Given the description of an element on the screen output the (x, y) to click on. 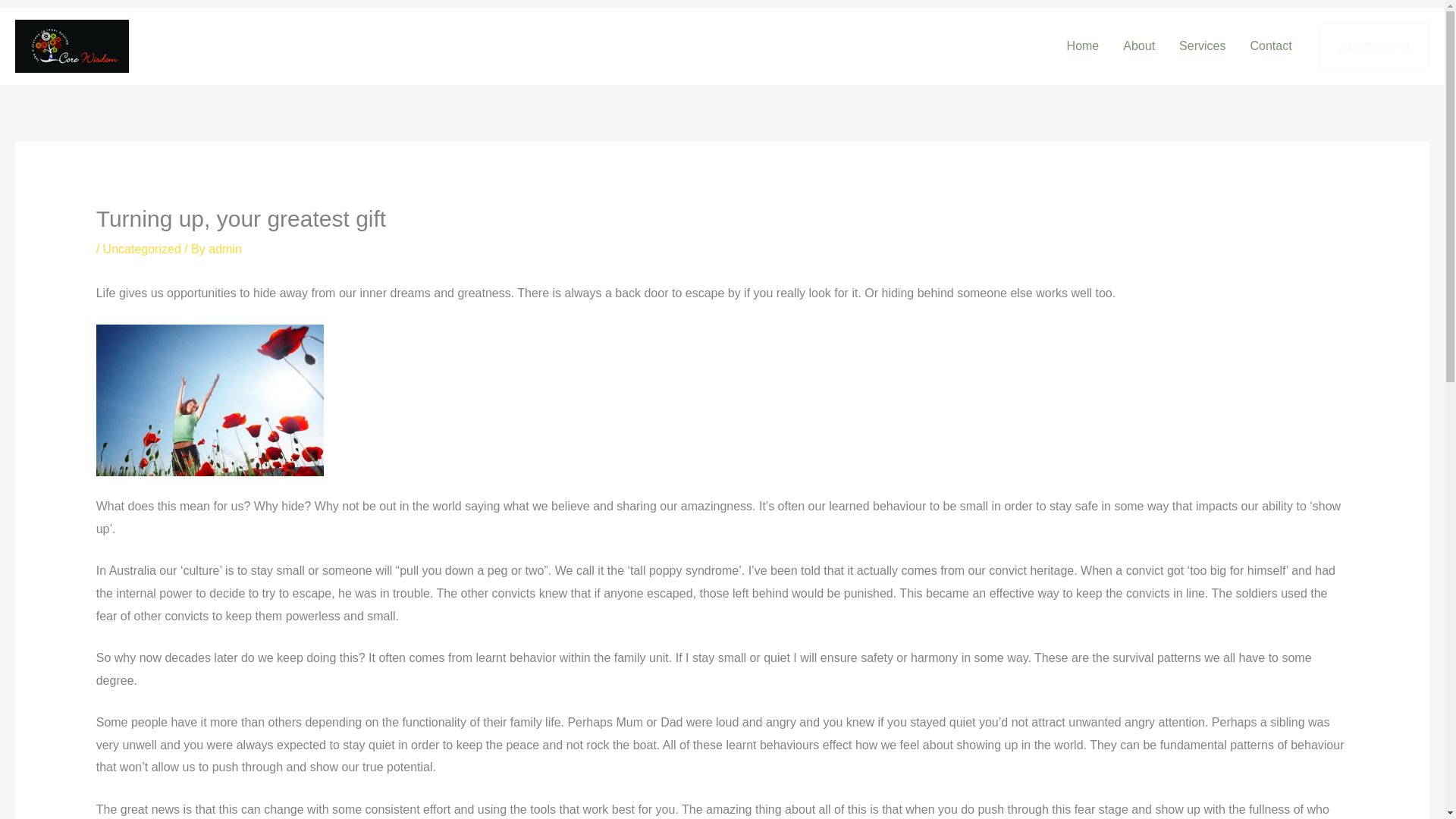
About (1138, 45)
Contact (1270, 45)
Services (1202, 45)
admin (224, 248)
Uncategorized (141, 248)
202-555-0188 (1374, 45)
Home (1083, 45)
View all posts by admin (224, 248)
